Given the description of an element on the screen output the (x, y) to click on. 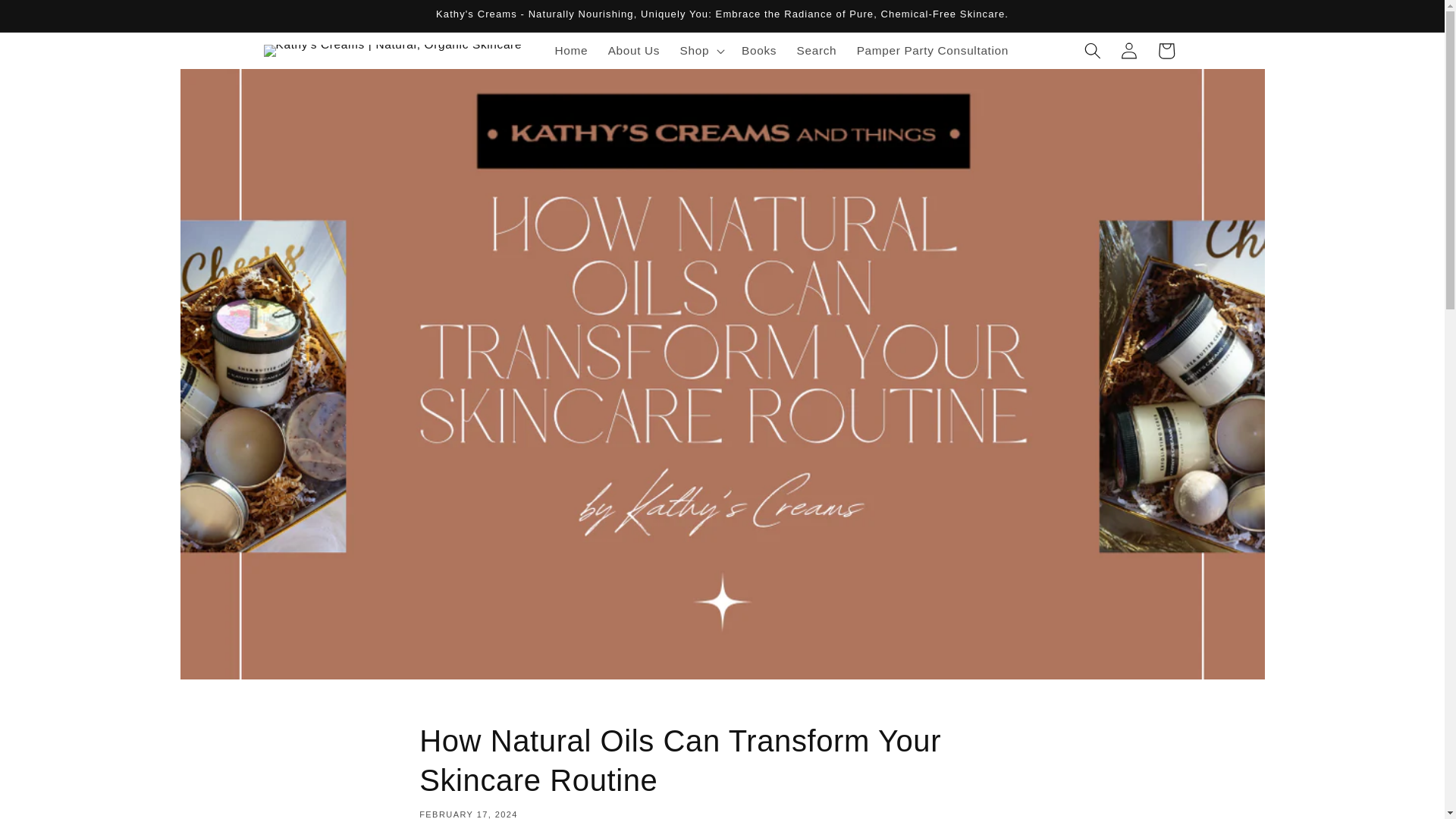
About Us (632, 50)
Skip to content (50, 19)
Home (570, 50)
